Given the description of an element on the screen output the (x, y) to click on. 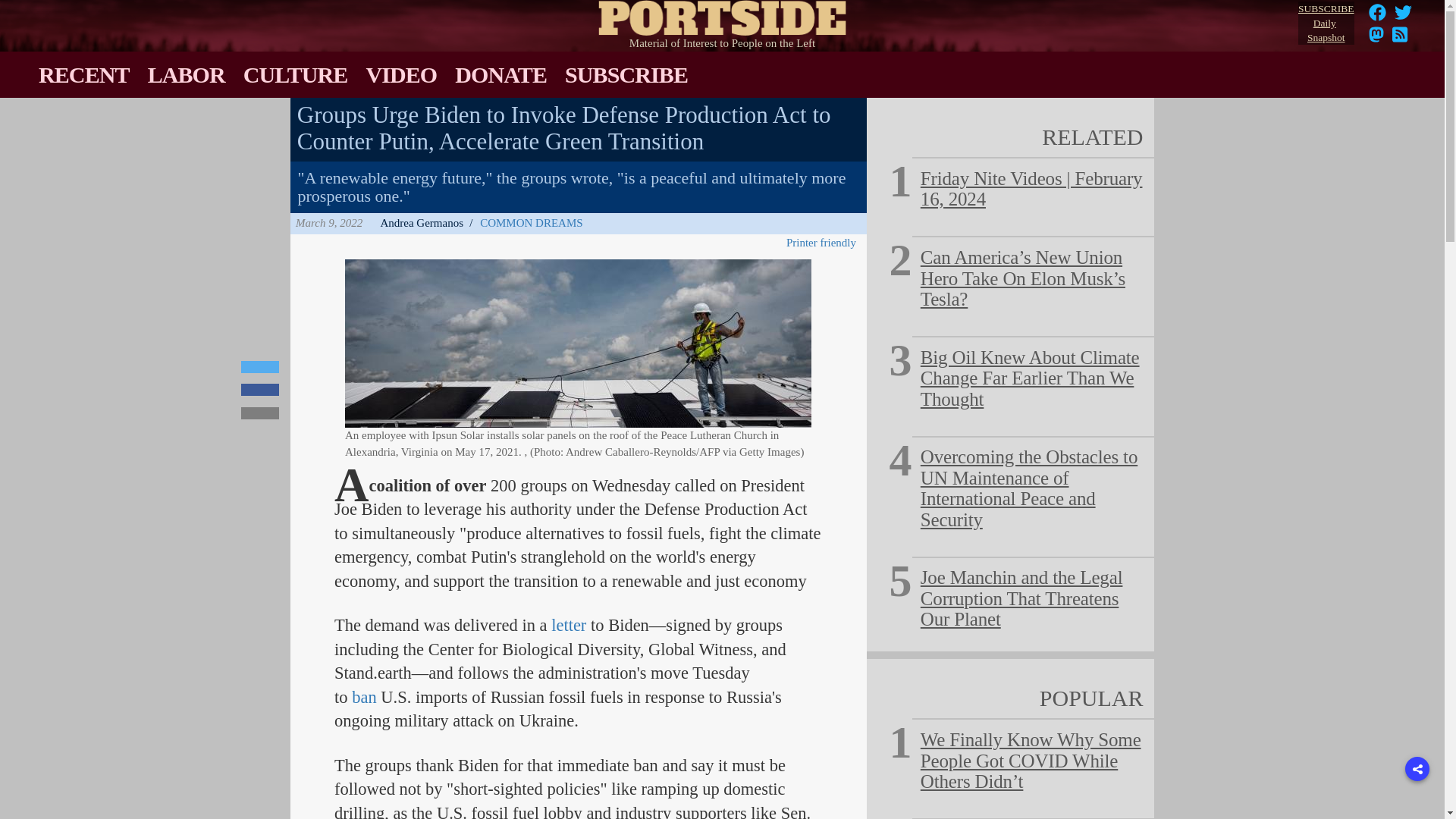
Facebook (1377, 11)
The most recent news articles (83, 74)
DONATE (500, 74)
Portside Labor articles (186, 74)
Mail (260, 413)
Facebook (1377, 16)
RECENT (83, 74)
Printer friendly   (823, 242)
Twitter (1403, 11)
RSS (1399, 34)
Twitter (260, 367)
Follow Portside on Twitter (1403, 16)
Follow Portside's RSS feed (1399, 39)
Twitter (1403, 16)
